Given the description of an element on the screen output the (x, y) to click on. 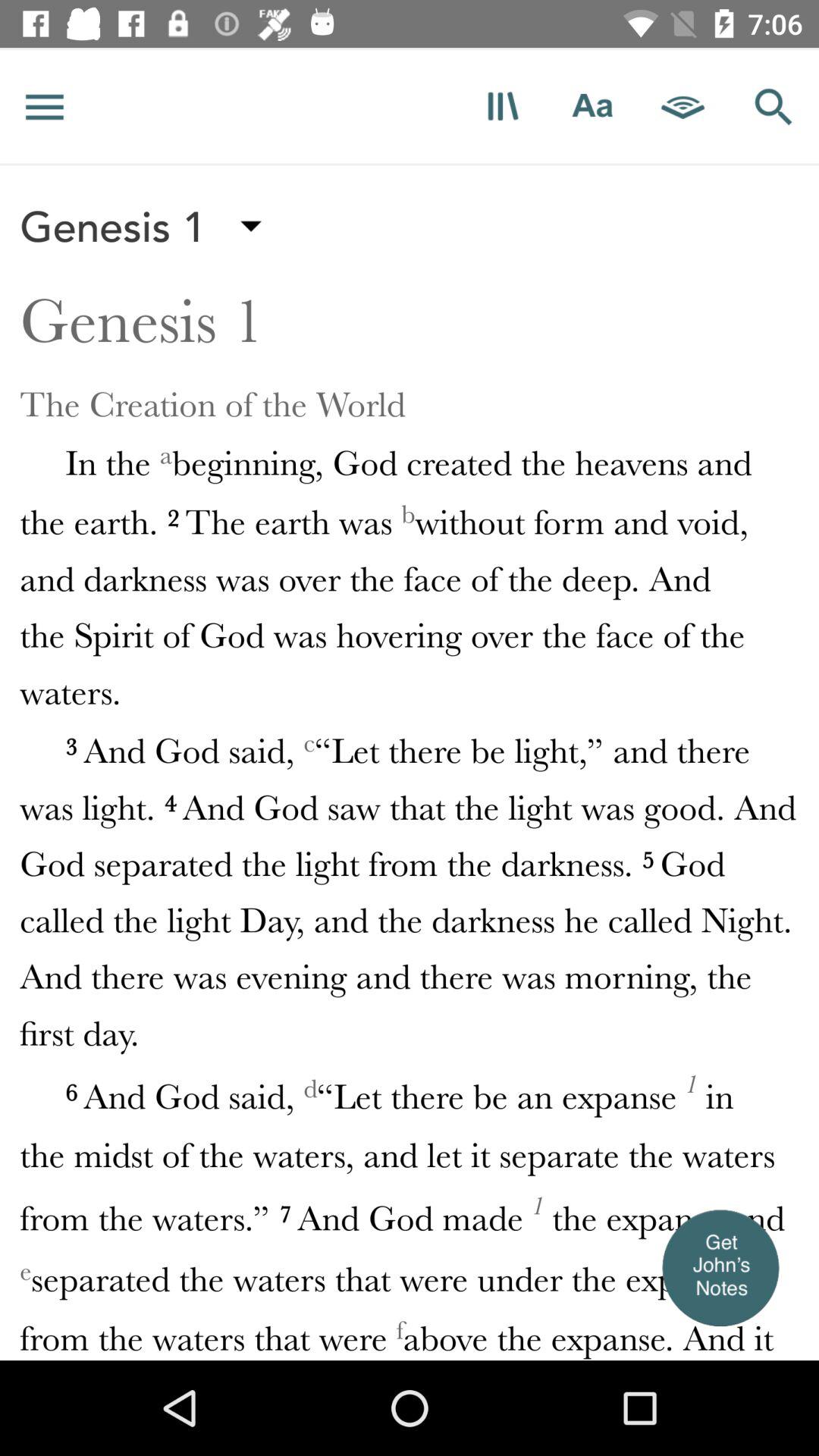
see john 's notes about this (720, 1267)
